Given the description of an element on the screen output the (x, y) to click on. 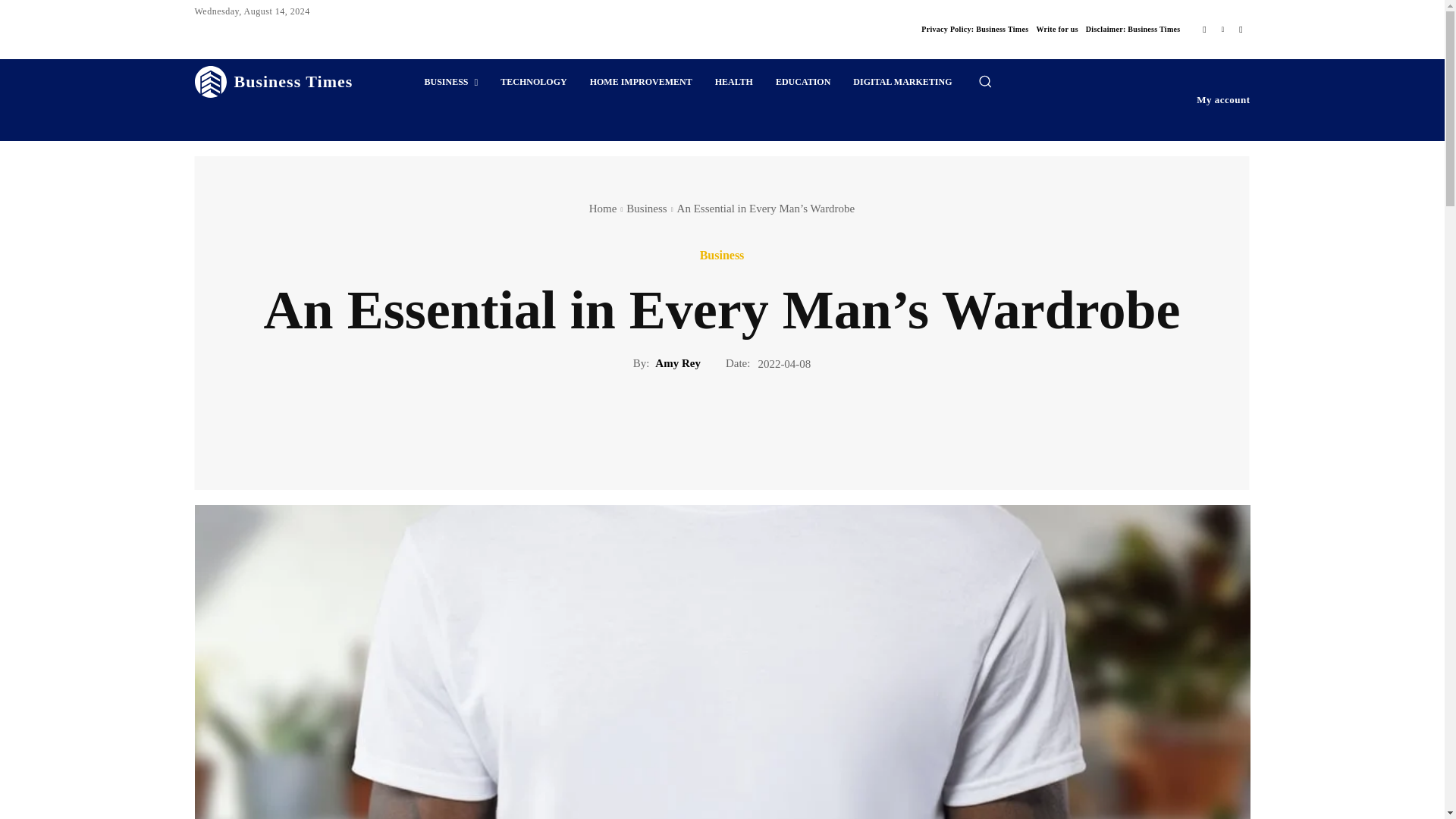
Business (646, 208)
EDUCATION (802, 81)
Home (603, 208)
RSS (1240, 29)
Linkedin (1221, 29)
HEALTH (733, 81)
Privacy Policy: Business Times (974, 29)
BUSINESS (450, 81)
Business Times (272, 81)
DIGITAL MARKETING (901, 81)
